Given the description of an element on the screen output the (x, y) to click on. 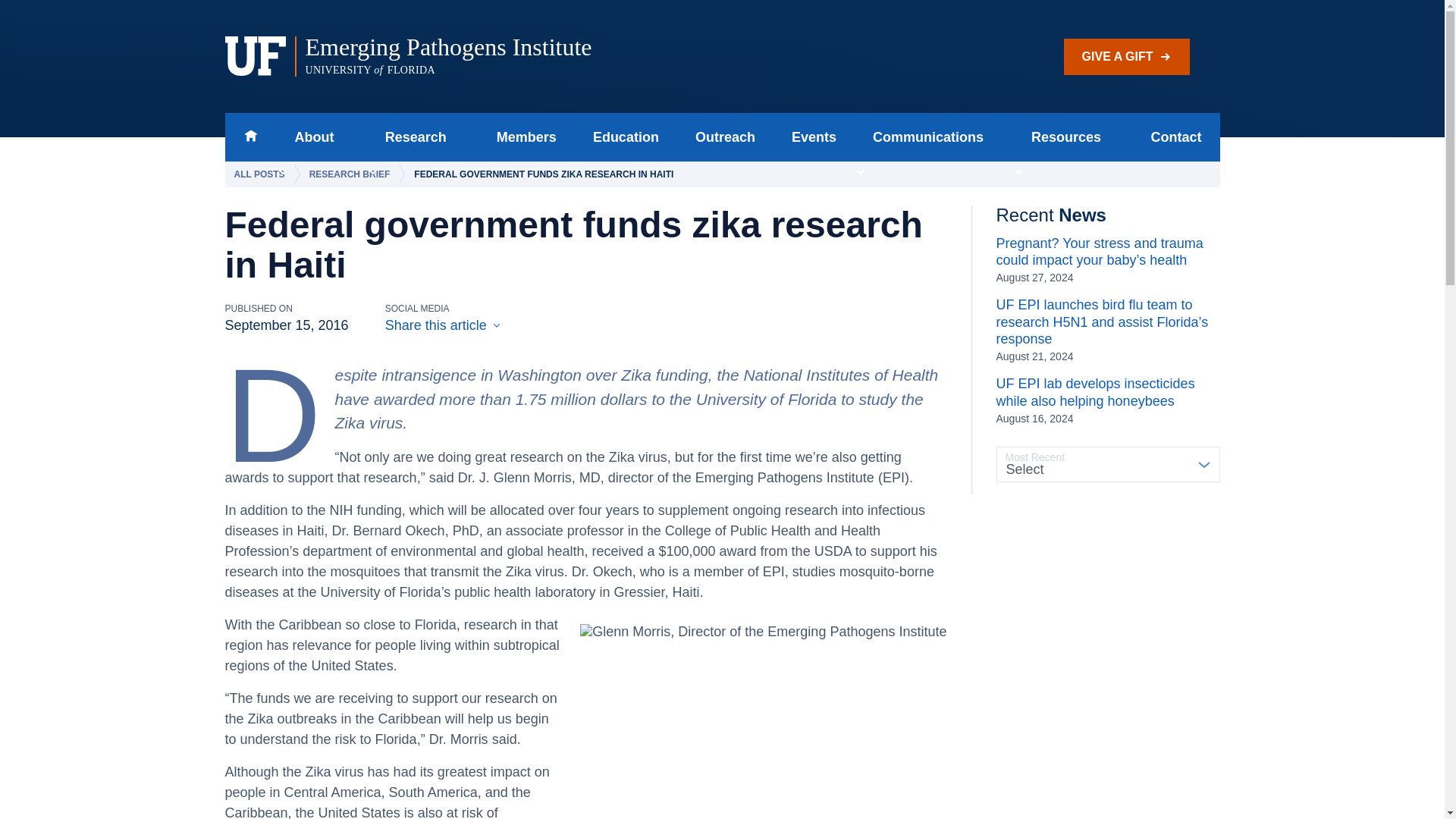
Members (527, 137)
About (309, 137)
RESEARCH BRIEF (352, 174)
GIVE A GIFT (1126, 56)
Resources (1061, 137)
Research (410, 137)
Events (813, 137)
Communications (923, 137)
ALL POSTS (261, 174)
Education (626, 137)
